Given the description of an element on the screen output the (x, y) to click on. 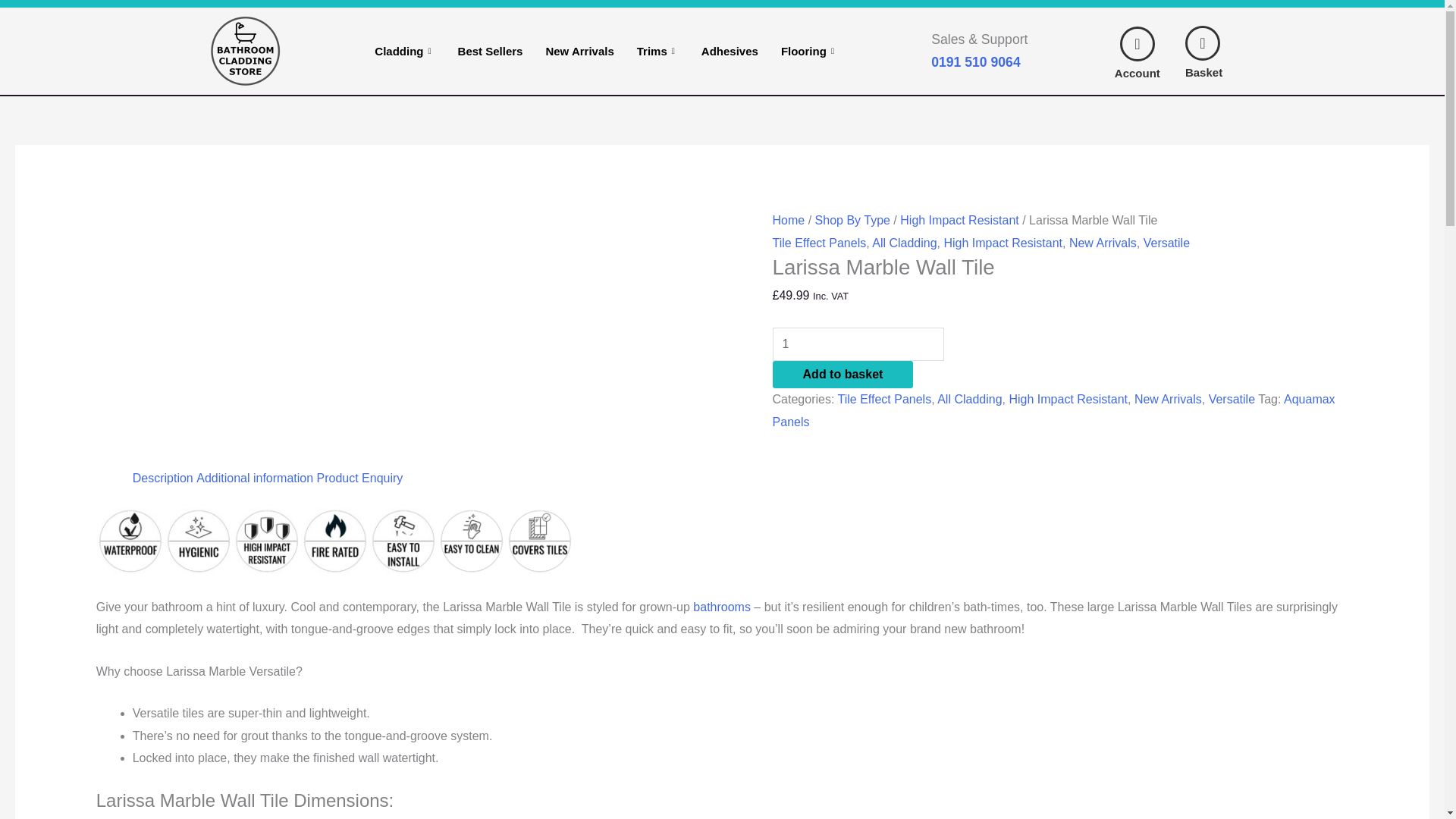
Best Sellers (490, 50)
New Arrivals (579, 50)
Trims (658, 50)
Cladding (403, 50)
1 (858, 344)
cropped-logo-small (245, 50)
